Given the description of an element on the screen output the (x, y) to click on. 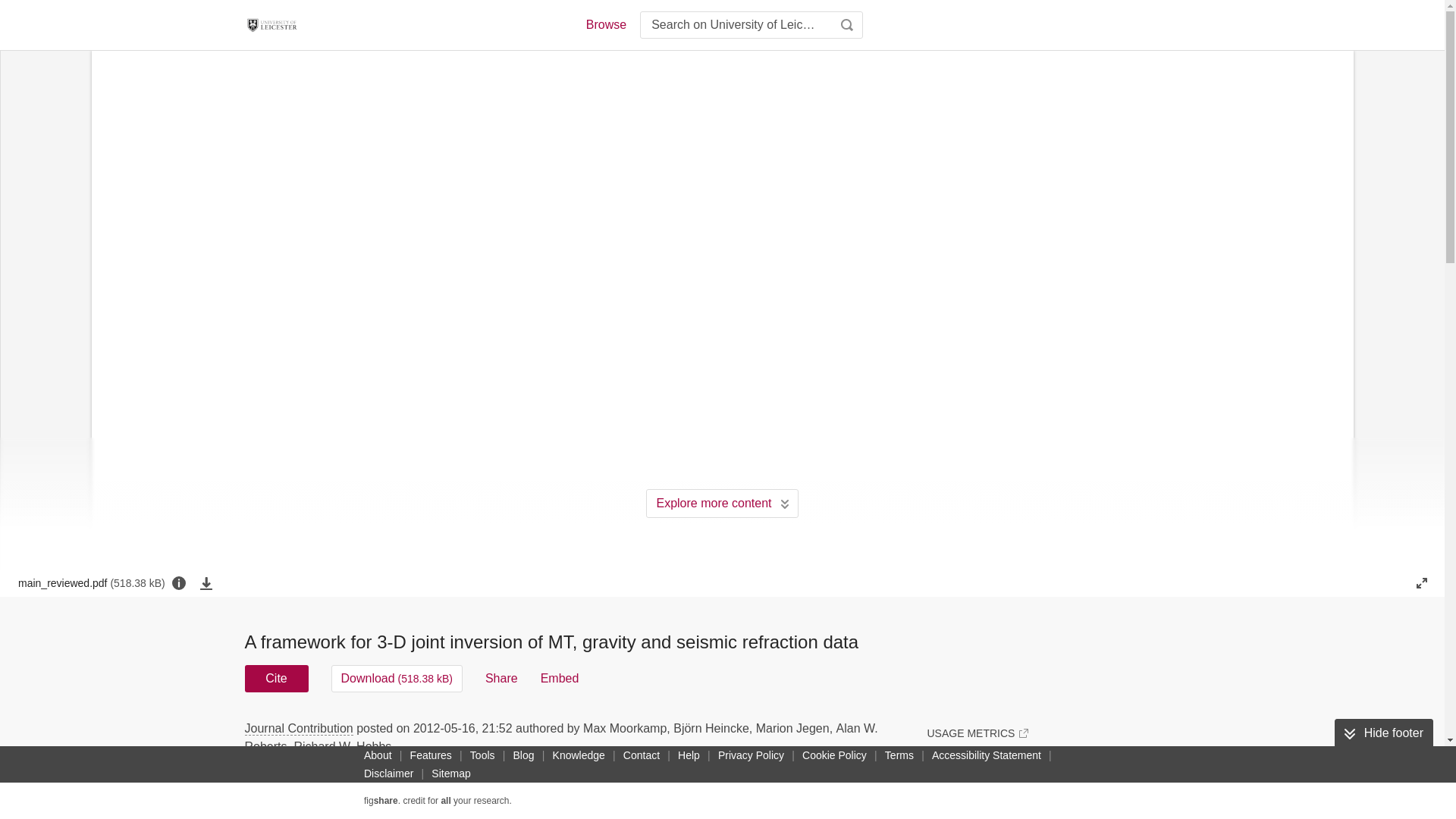
Share (501, 678)
Embed (559, 678)
Browse (605, 24)
Explore more content (721, 502)
Cite (275, 678)
USAGE METRICS (976, 732)
